Given the description of an element on the screen output the (x, y) to click on. 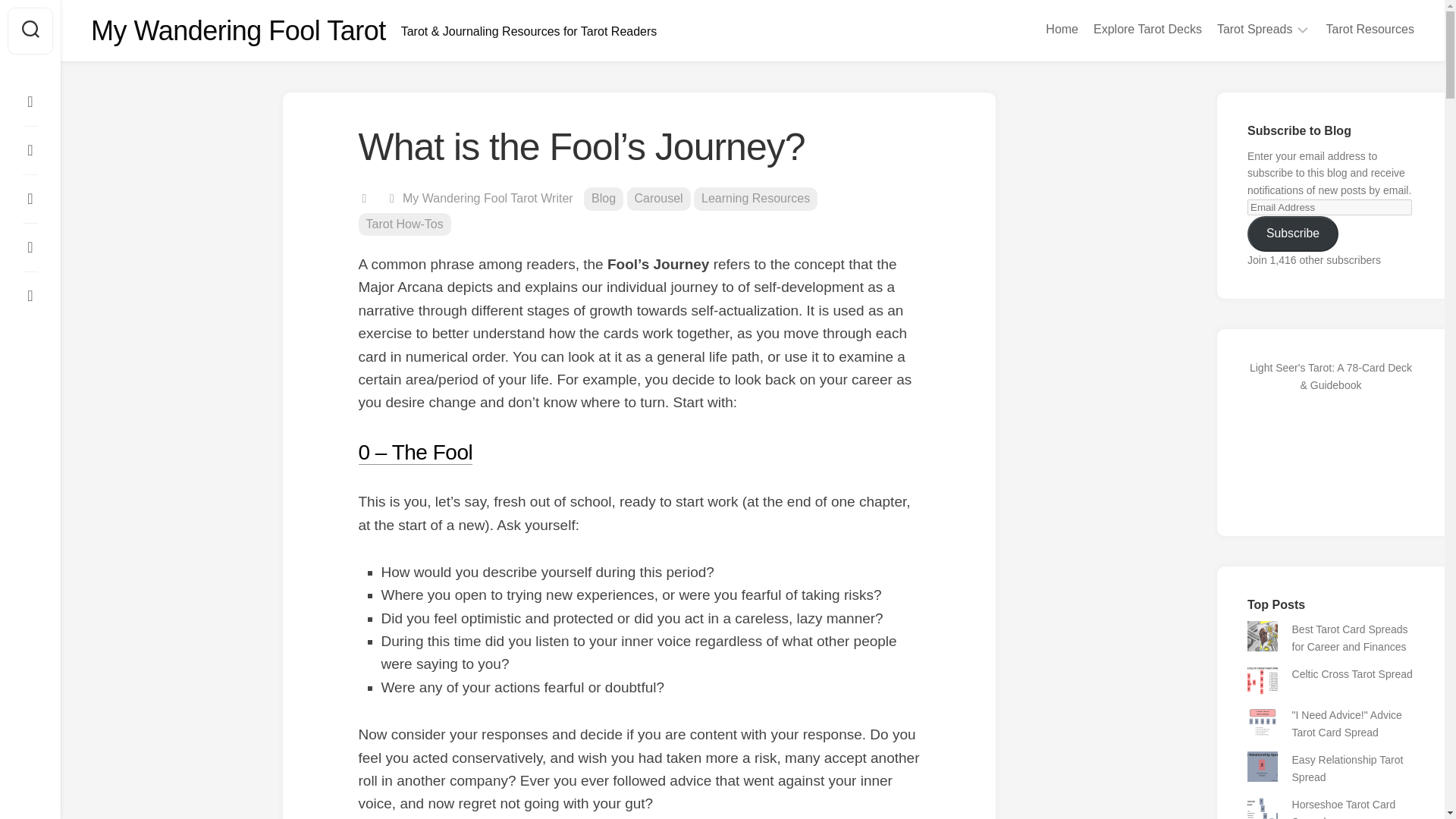
My Wandering Fool Tarot (237, 31)
Blog (603, 198)
Tarot Spreads (1254, 29)
Carousel (658, 198)
Posts by My Wandering Fool Tarot Writer (488, 197)
Explore Tarot Decks (1147, 29)
Learning Resources (755, 198)
Home (1061, 29)
Tarot How-Tos (403, 223)
Best Tarot Card Spreads for Career and Finances (1349, 637)
